Given the description of an element on the screen output the (x, y) to click on. 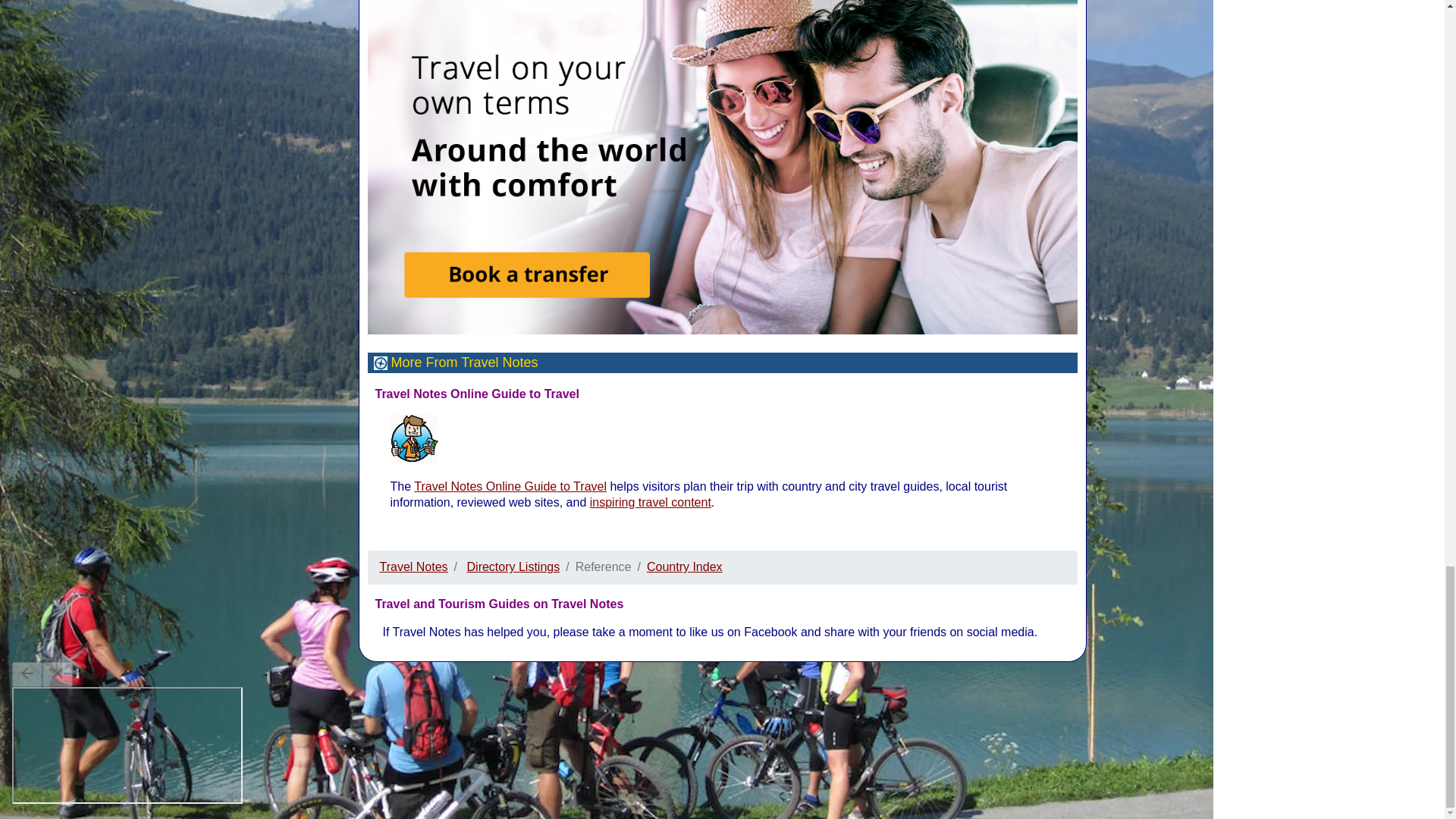
Travel Notes Online Guide to Travel (510, 486)
Directory Listings (513, 566)
Travel Notes (412, 566)
Join Michel on Meta-Travel (414, 438)
inspiring travel content (650, 502)
Country Index (684, 566)
